Given the description of an element on the screen output the (x, y) to click on. 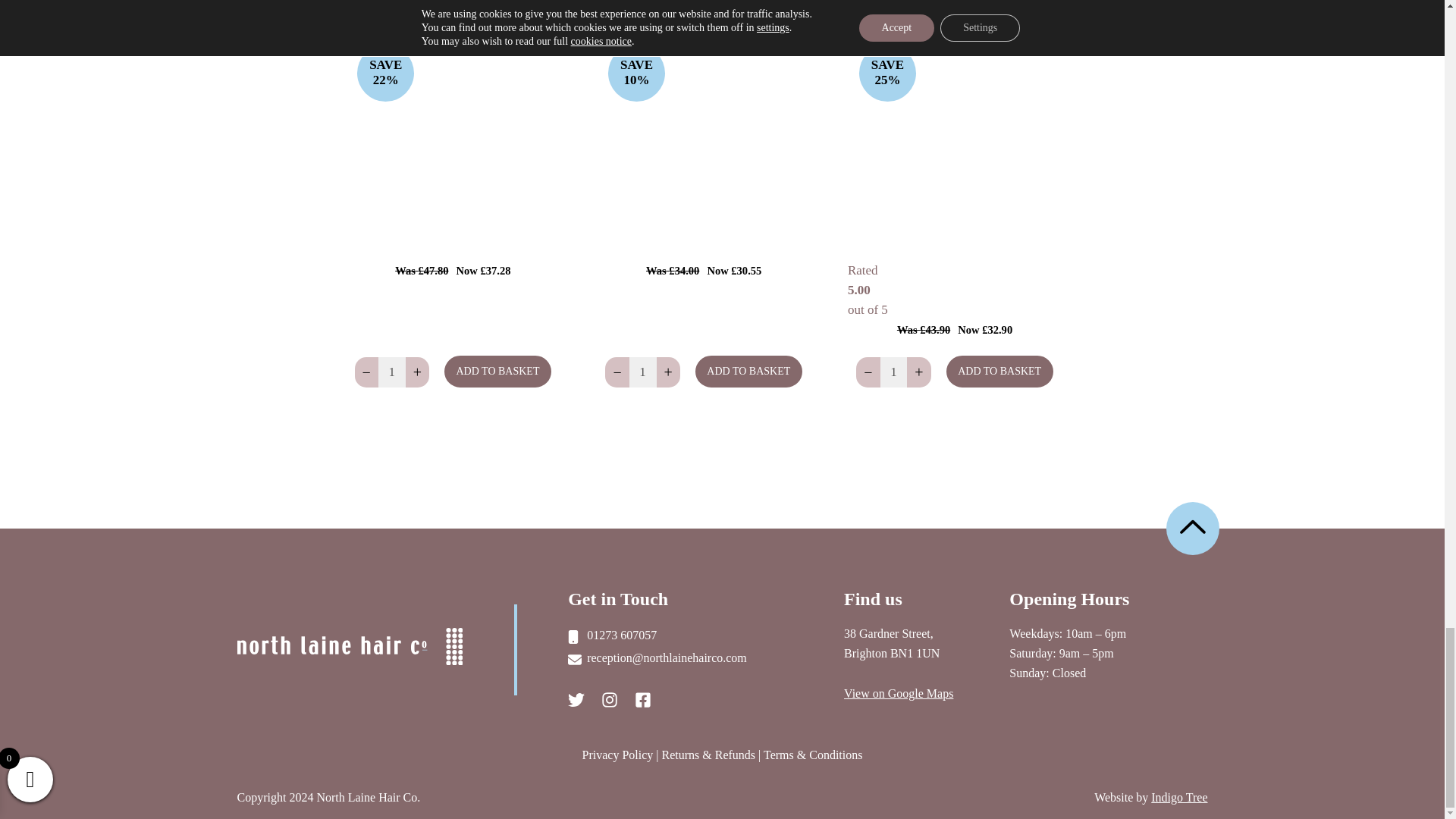
1 (391, 372)
1 (642, 372)
1 (892, 372)
